Given the description of an element on the screen output the (x, y) to click on. 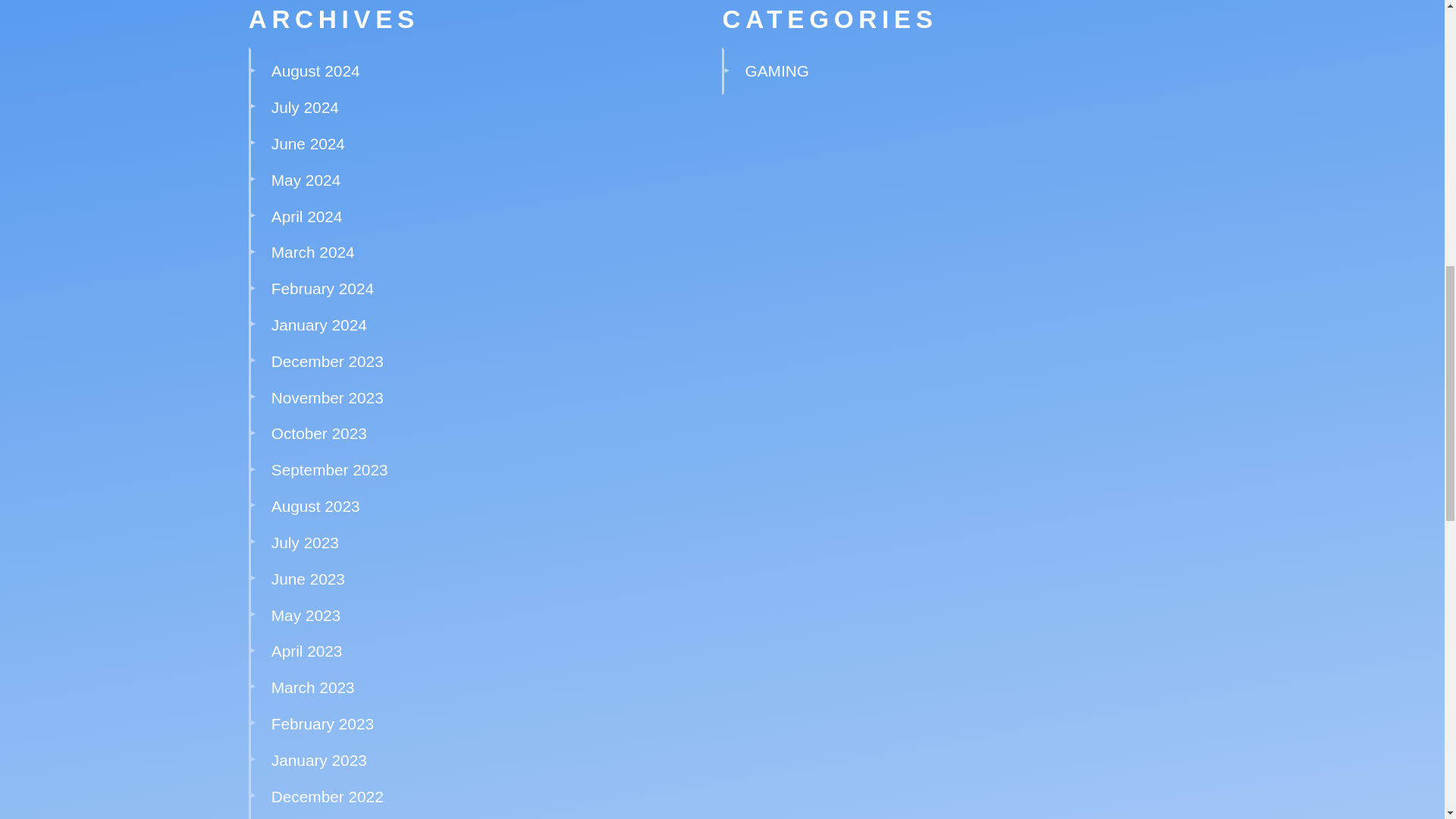
August 2023 (314, 506)
September 2023 (329, 469)
GAMING (777, 70)
October 2023 (318, 433)
December 2023 (327, 361)
March 2024 (312, 252)
January 2024 (318, 324)
December 2022 (327, 796)
June 2024 (307, 143)
June 2023 (307, 579)
